Given the description of an element on the screen output the (x, y) to click on. 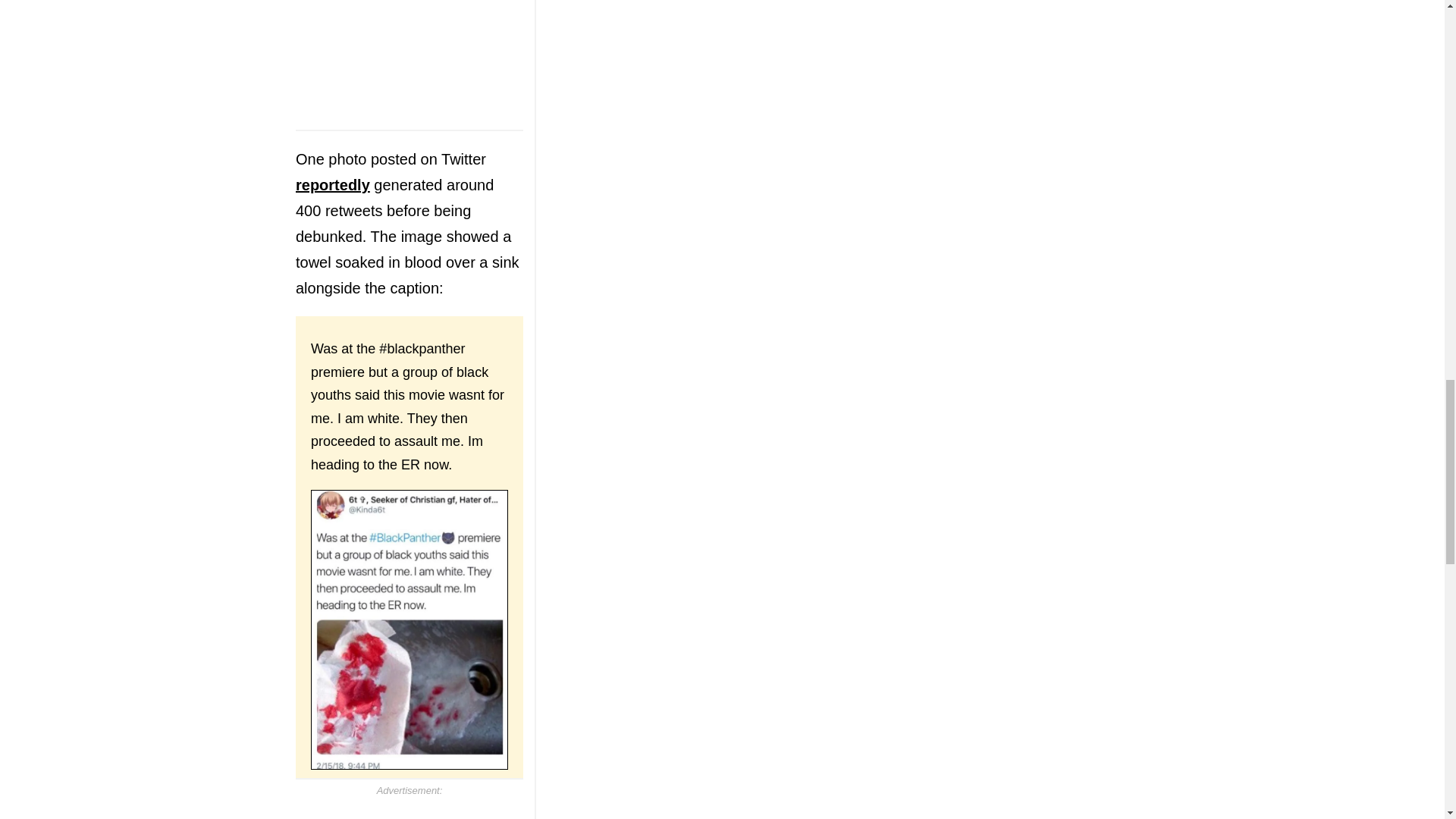
reportedly (332, 184)
